Given the description of an element on the screen output the (x, y) to click on. 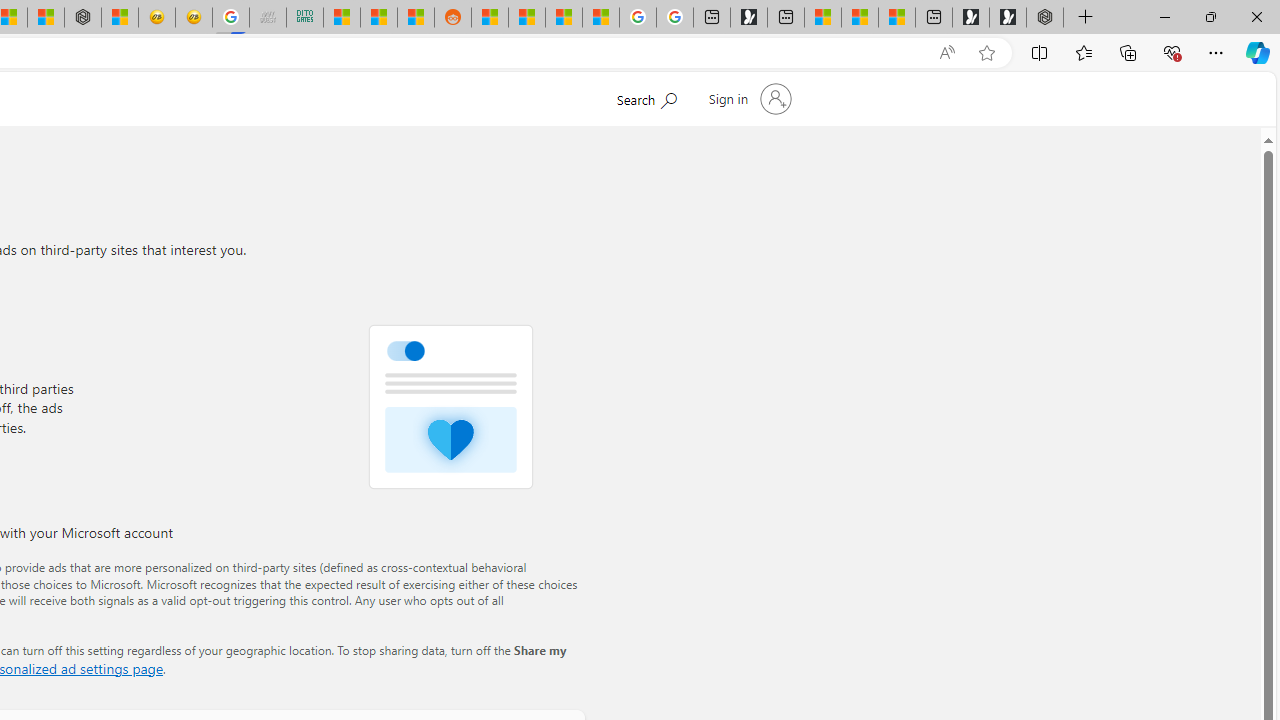
Sign in to your account (748, 98)
